Given the description of an element on the screen output the (x, y) to click on. 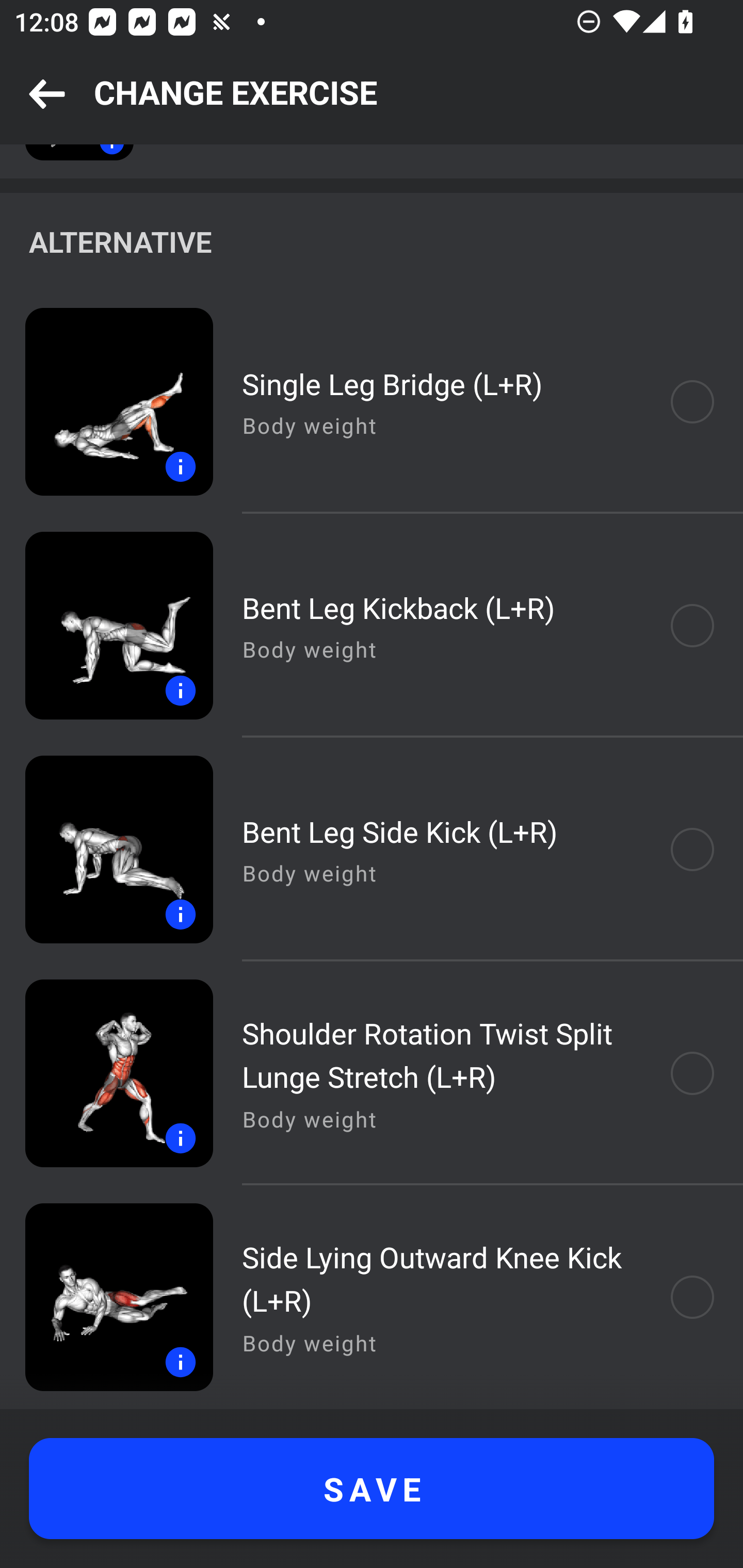
Navigation icon (46, 94)
details Single Leg Bridge (L+R) Body weight (371, 402)
details (106, 402)
details Bent Leg Kickback (L+R) Body weight (371, 625)
details (106, 625)
details Bent Leg Side Kick (L+R) Body weight (371, 848)
details (106, 848)
details (106, 1073)
details (106, 1297)
SAVE (371, 1488)
